Given the description of an element on the screen output the (x, y) to click on. 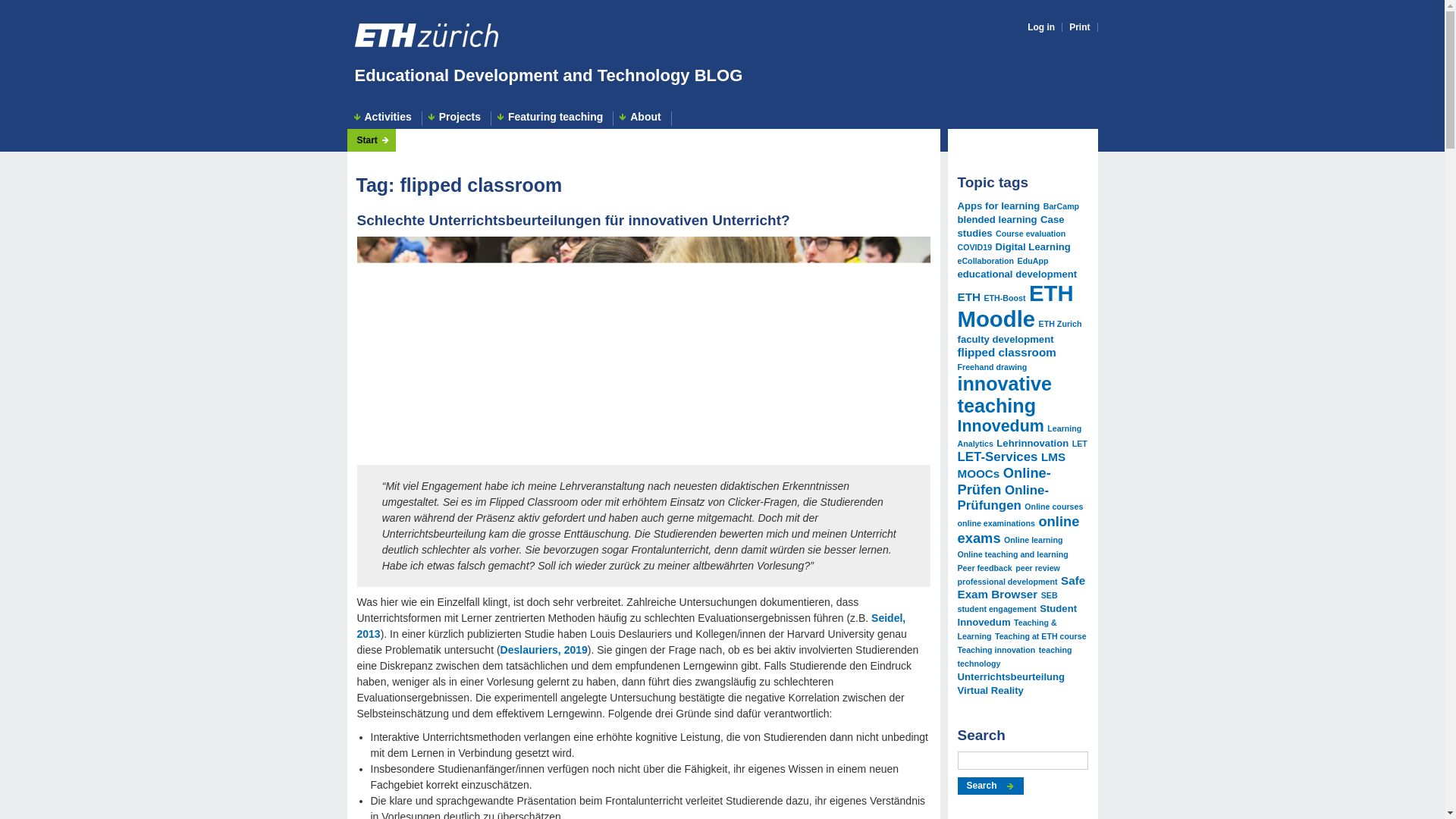
About (641, 118)
BarCamp (1060, 205)
blended learning (996, 219)
Start (372, 139)
Log in (1040, 26)
Apps for learning (997, 205)
Featuring teaching (551, 118)
Search (989, 785)
Deslauriers, 2019 (544, 649)
Activities (384, 118)
